Given the description of an element on the screen output the (x, y) to click on. 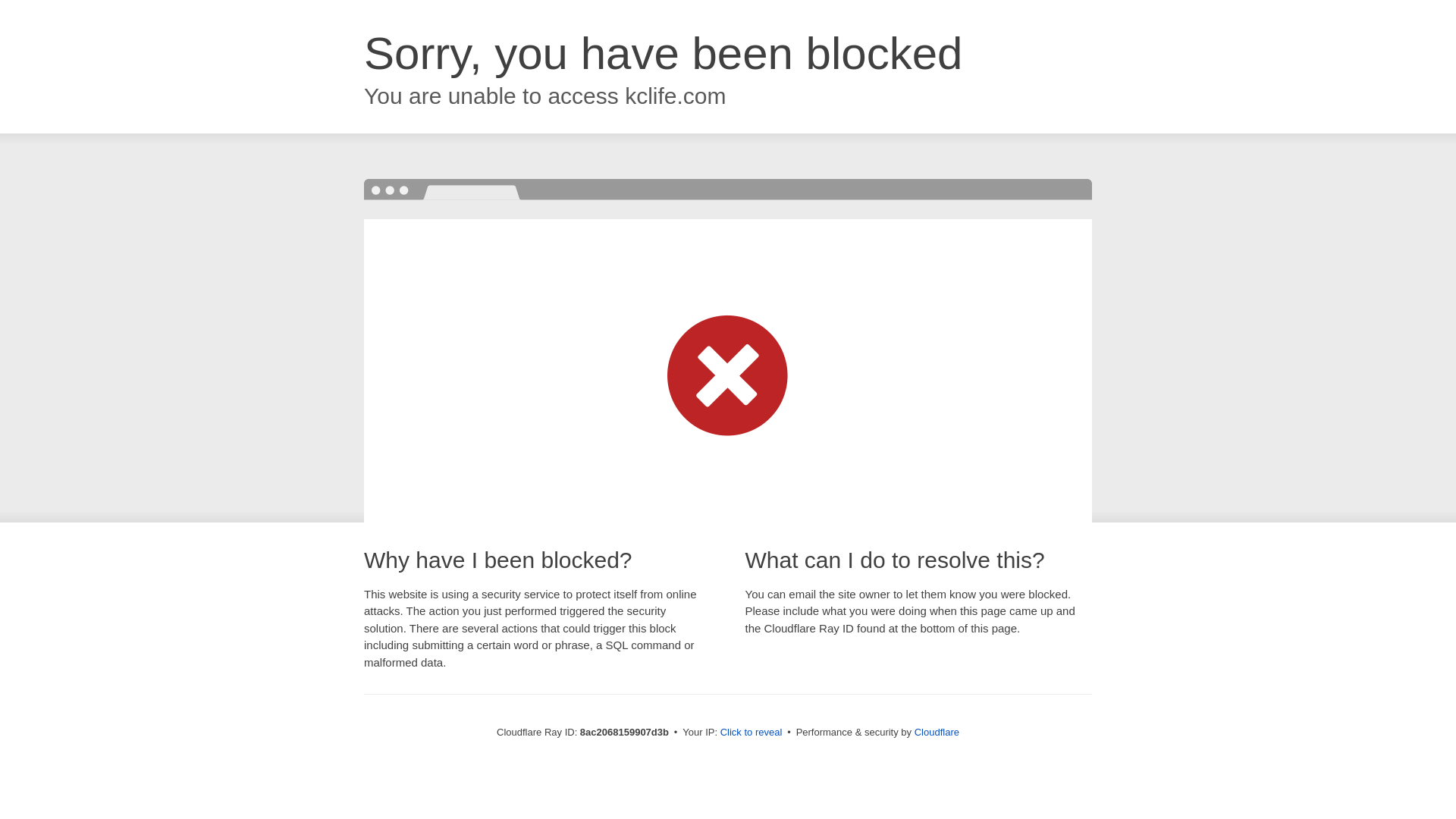
Cloudflare (936, 731)
Click to reveal (751, 732)
